Given the description of an element on the screen output the (x, y) to click on. 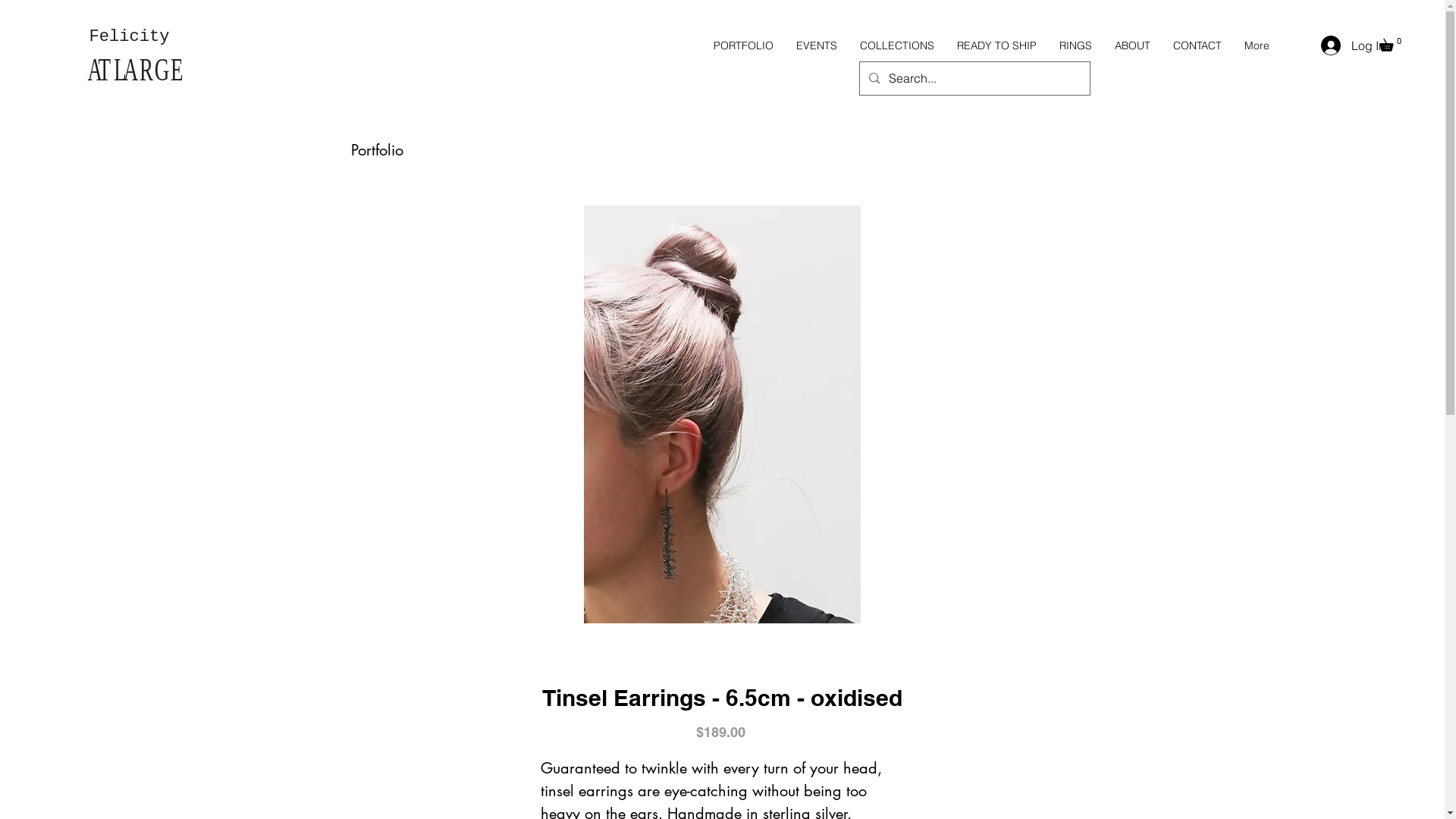
0 Element type: text (1392, 42)
COLLECTIONS Element type: text (896, 45)
Felicity
AT LARGE Element type: text (129, 55)
RINGS Element type: text (1075, 45)
PORTFOLIO Element type: text (743, 45)
EVENTS Element type: text (816, 45)
READY TO SHIP Element type: text (996, 45)
Log In Element type: text (1341, 45)
Portfolio Element type: text (376, 150)
ABOUT Element type: text (1132, 45)
CONTACT Element type: text (1197, 45)
